Given the description of an element on the screen output the (x, y) to click on. 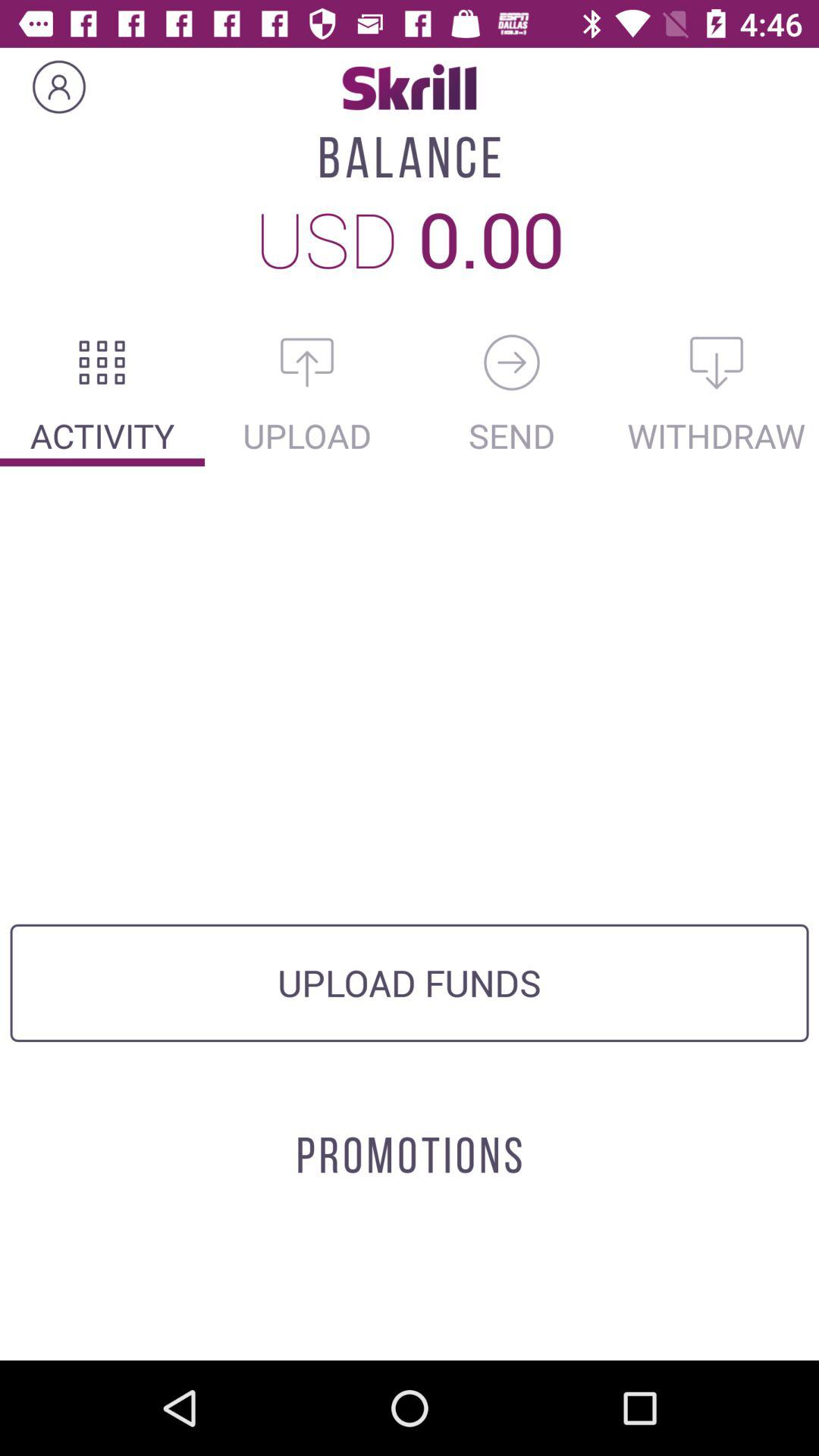
send money button (511, 362)
